Given the description of an element on the screen output the (x, y) to click on. 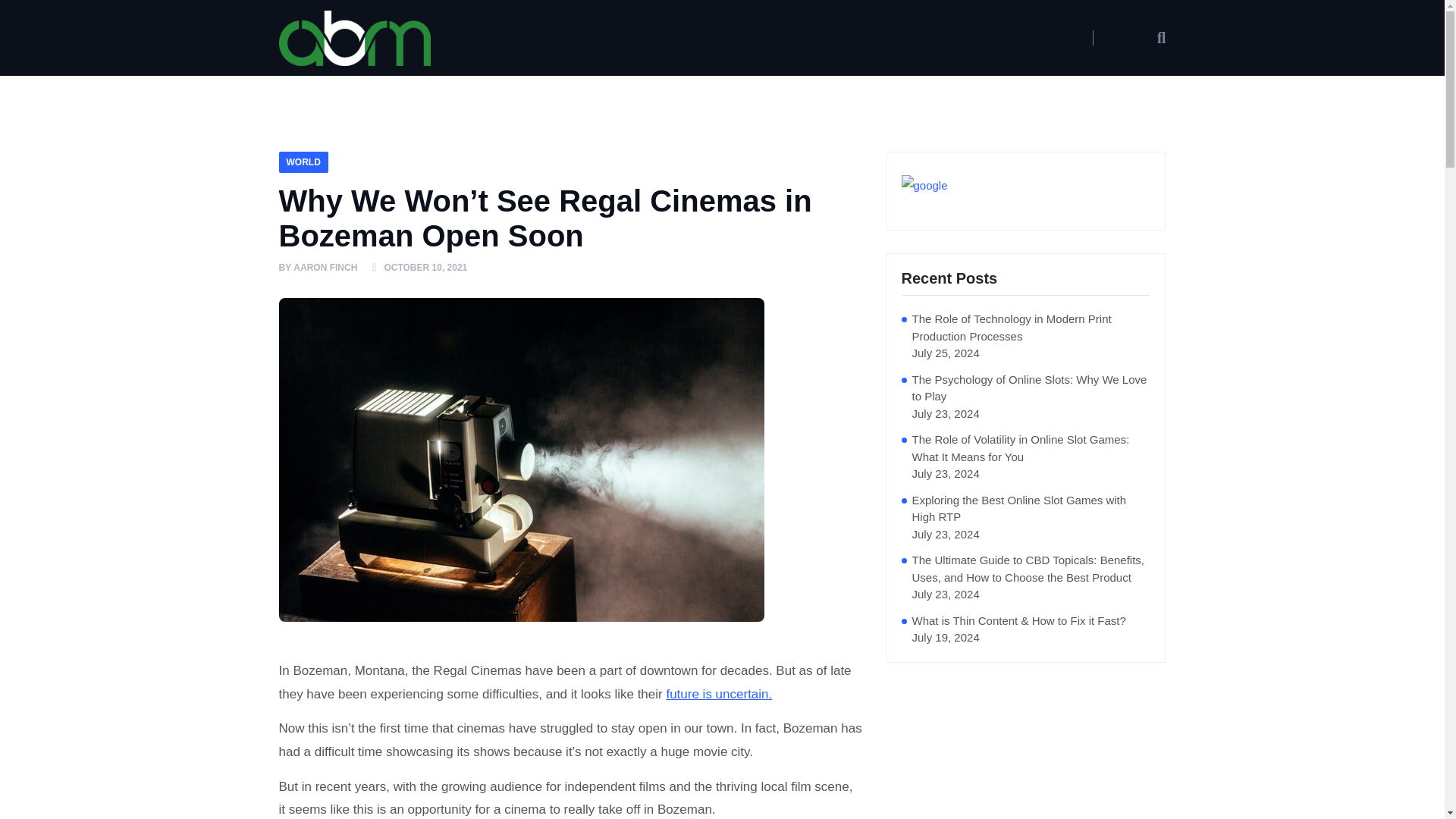
The Role of Technology in Modern Print Production Processes (1030, 327)
future is uncertain. (718, 694)
AARON FINCH (325, 268)
Exploring the Best Online Slot Games with High RTP (1030, 508)
Follow On Google News (1025, 185)
The Psychology of Online Slots: Why We Love to Play (1030, 388)
Lifestyle (1006, 37)
WORLD (304, 161)
Fashion (942, 37)
